Given the description of an element on the screen output the (x, y) to click on. 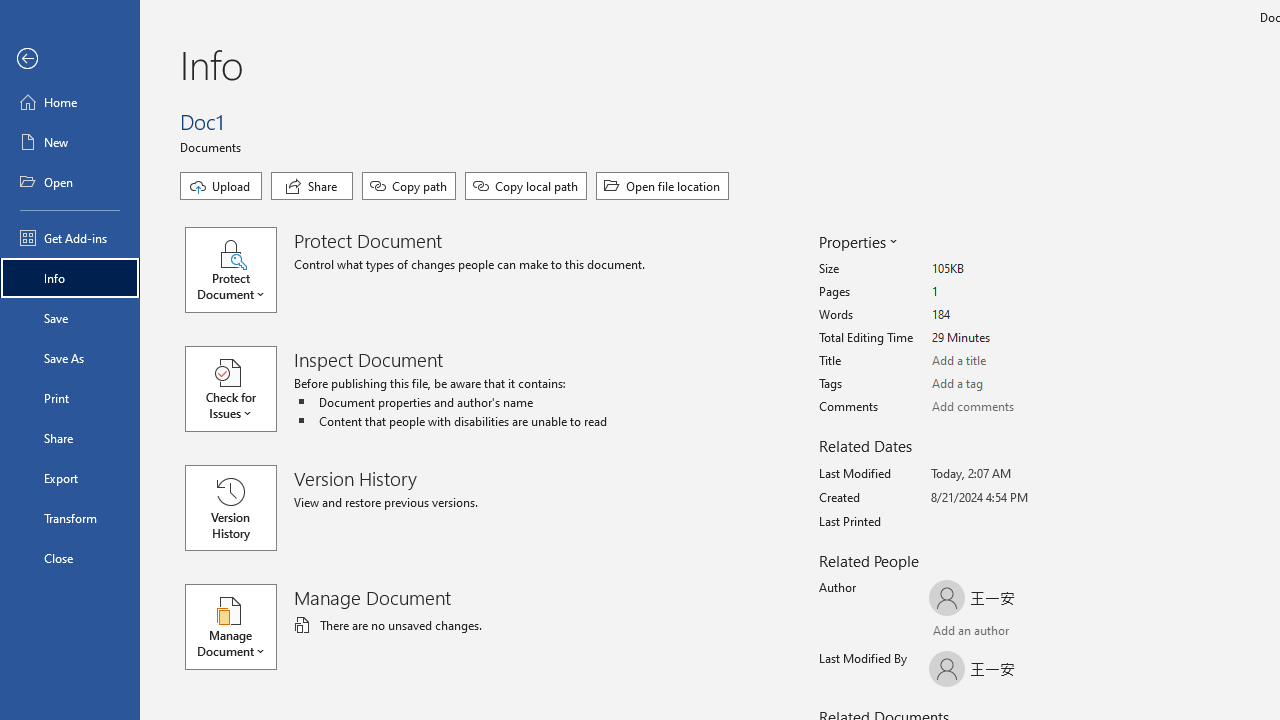
Open file location (662, 186)
Manage Document (239, 626)
Add an author (949, 632)
Words (1006, 315)
Copy local path (525, 186)
Back (69, 59)
Upload (221, 186)
